Given the description of an element on the screen output the (x, y) to click on. 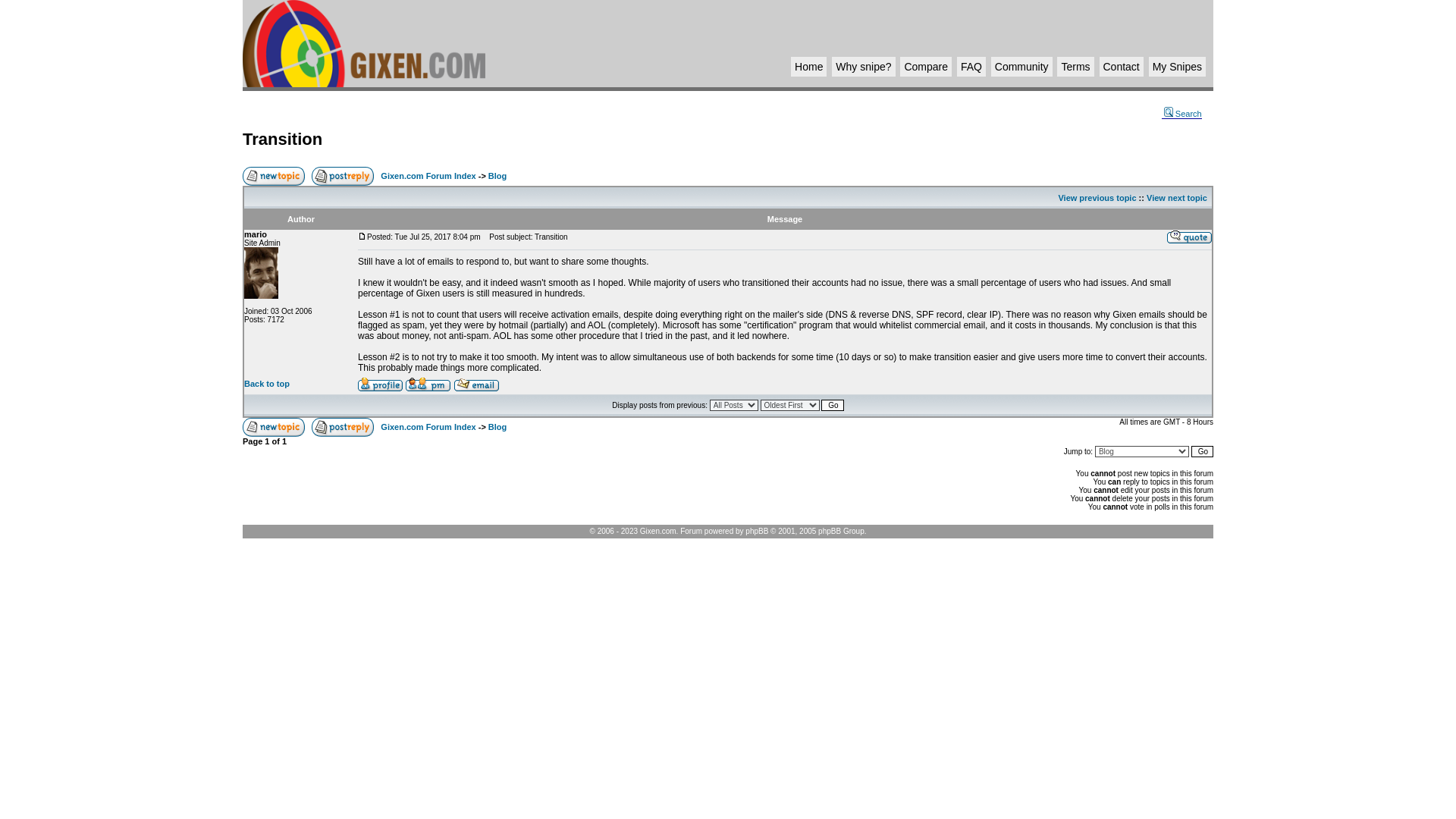
Terms (1075, 66)
View next topic (1177, 197)
Why snipe? (863, 66)
Home (808, 66)
Send private message (427, 384)
Go (1201, 451)
Community (1021, 66)
Go (832, 405)
View previous topic (1096, 197)
Back to top (266, 383)
